Given the description of an element on the screen output the (x, y) to click on. 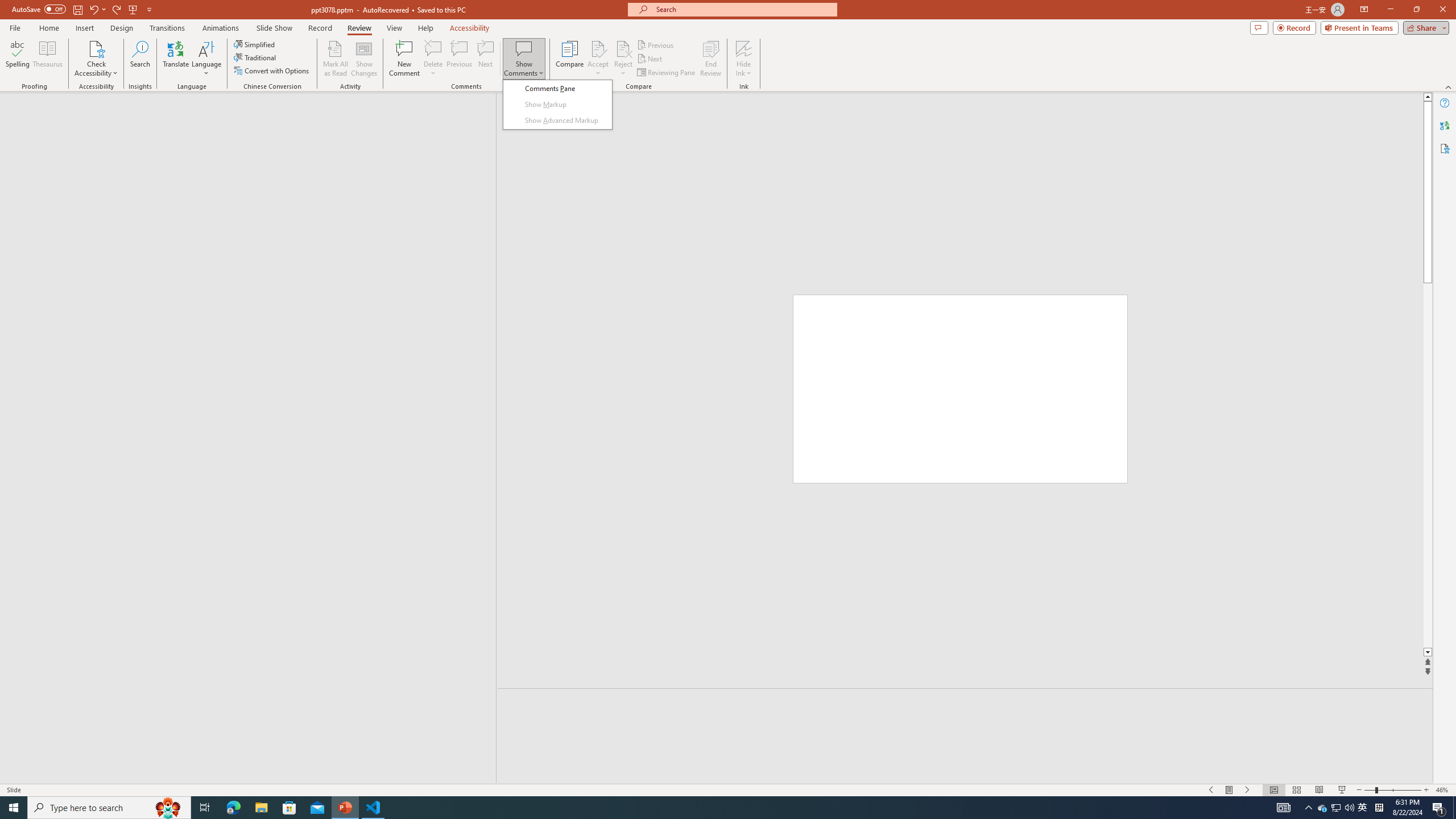
Previous (655, 44)
Slide Show Previous On (1211, 790)
Reject Change (622, 48)
